Given the description of an element on the screen output the (x, y) to click on. 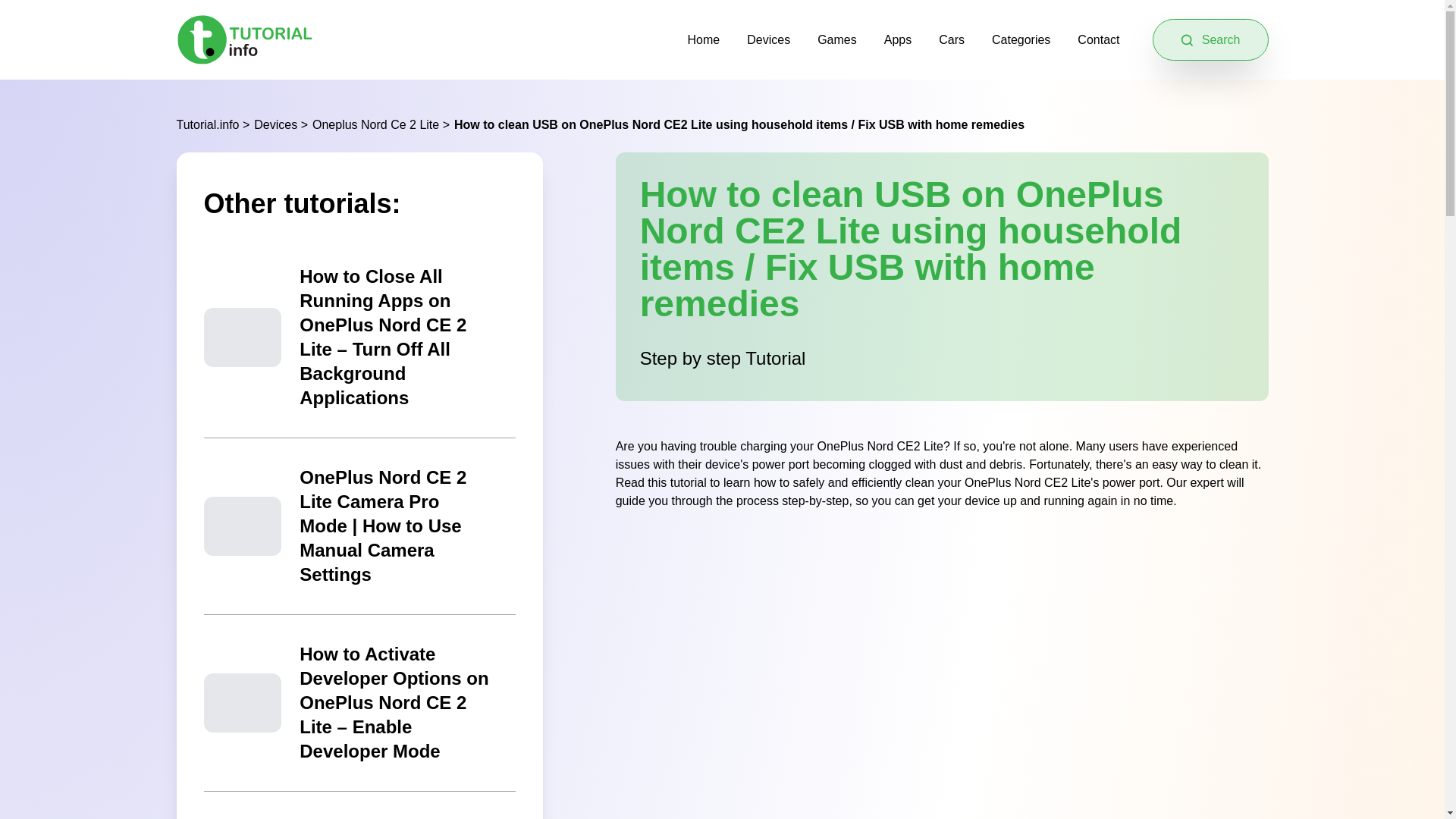
Cars (951, 39)
Games (836, 39)
Home (703, 39)
Apps (897, 39)
Devices (768, 39)
